Given the description of an element on the screen output the (x, y) to click on. 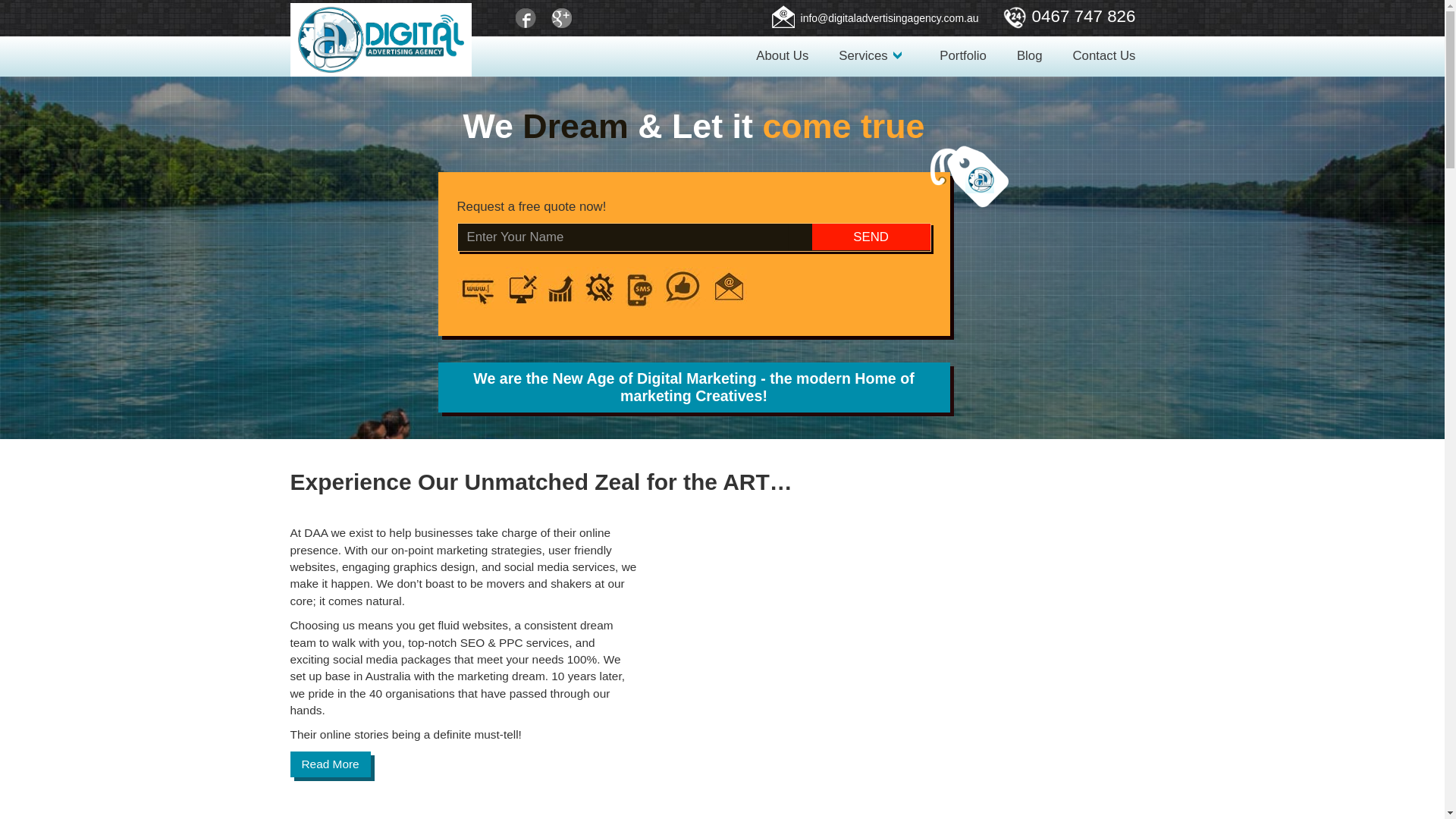
info@digitaladvertisingagency.com.au Element type: text (882, 19)
About Us Element type: text (781, 55)
Contact Us Element type: text (1103, 55)
0467 747 826 Element type: text (1076, 17)
Blog Element type: text (1029, 55)
Digital Advertising Agency Element type: hover (379, 39)
Google+ Element type: hover (560, 18)
Facebook Element type: hover (526, 18)
SEND Element type: text (871, 236)
Services Element type: text (873, 55)
Portfolio Element type: text (962, 55)
Read More Element type: text (329, 764)
